Given the description of an element on the screen output the (x, y) to click on. 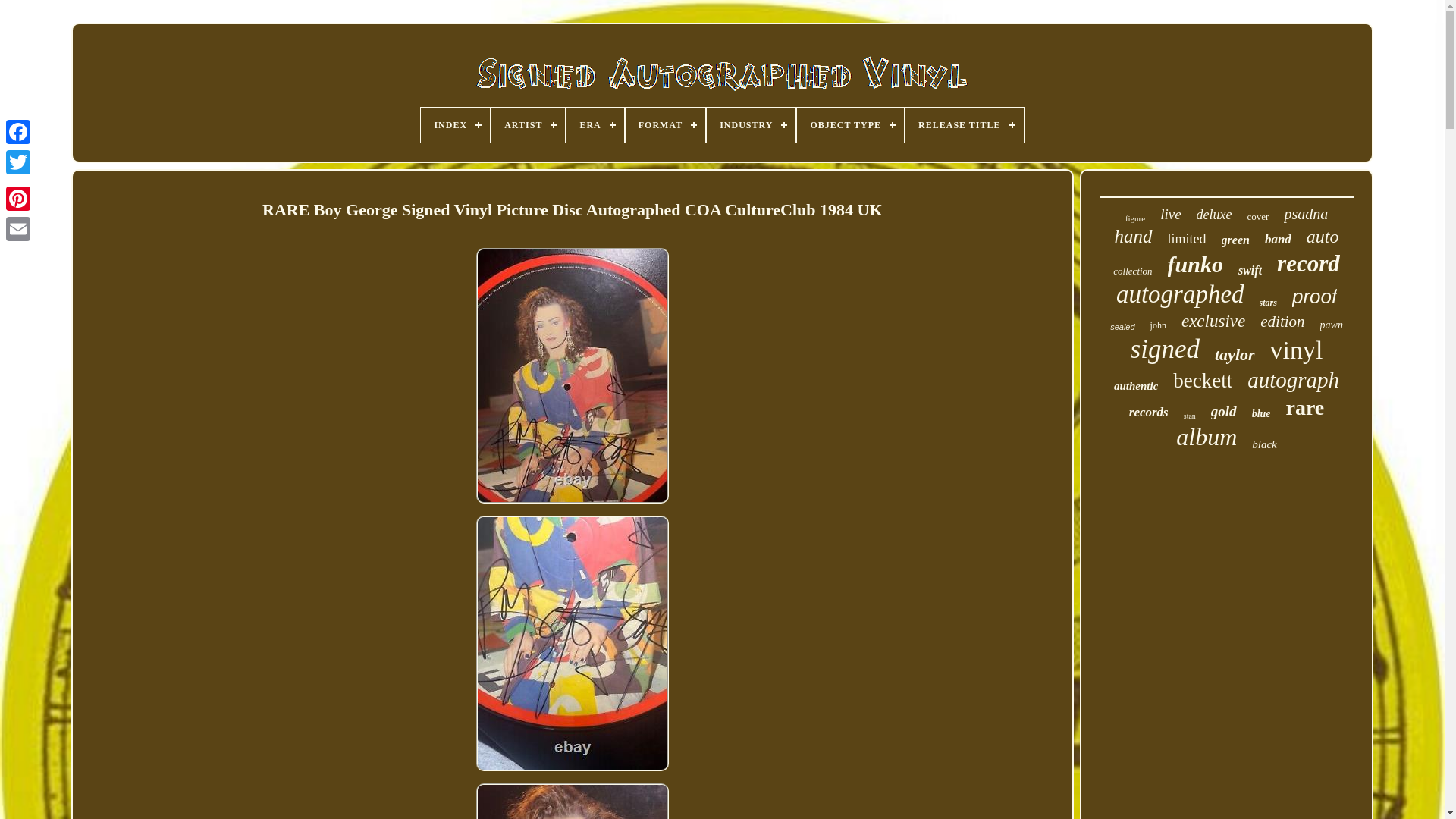
ARTIST (528, 124)
ERA (594, 124)
INDEX (454, 124)
Pinterest (17, 198)
